Given the description of an element on the screen output the (x, y) to click on. 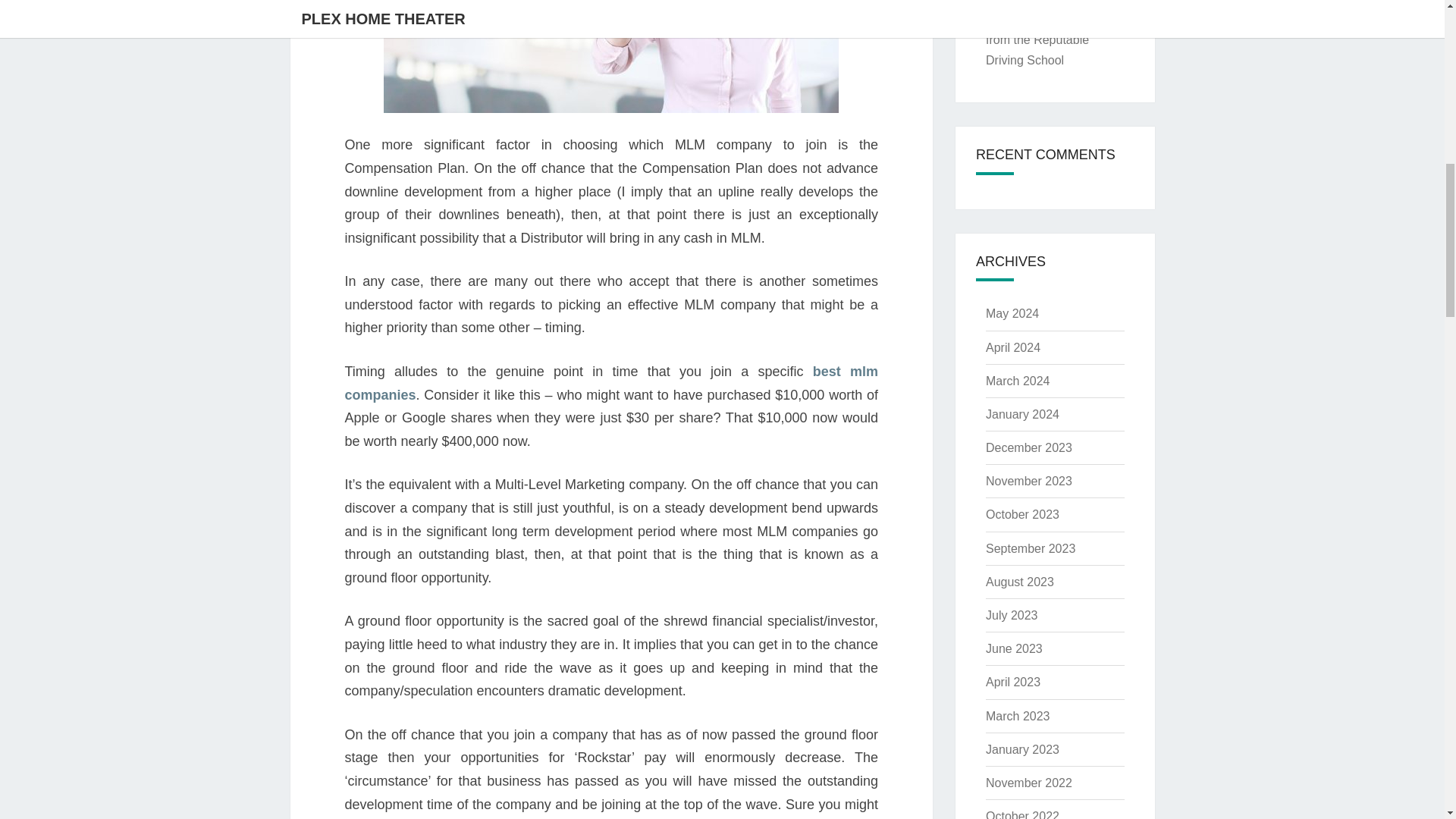
November 2022 (1028, 782)
October 2022 (1022, 814)
December 2023 (1028, 447)
best mlm companies (610, 382)
March 2023 (1017, 716)
April 2024 (1013, 347)
November 2023 (1028, 481)
July 2023 (1011, 615)
September 2023 (1030, 548)
March 2024 (1017, 380)
